Given the description of an element on the screen output the (x, y) to click on. 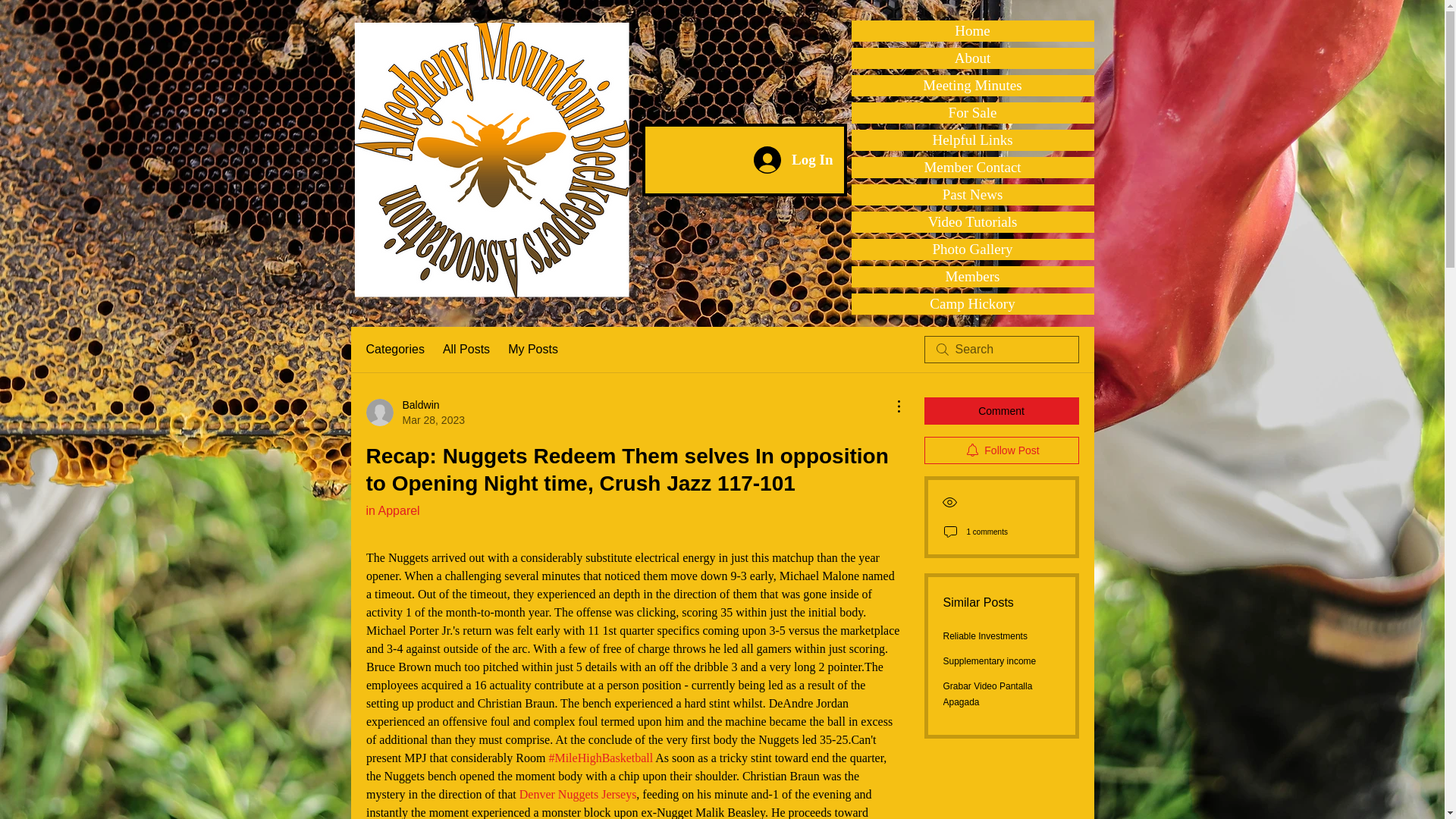
Denver Nuggets Jerseys (577, 793)
Members (971, 276)
Grabar Video Pantalla Apagada (987, 693)
Supplementary income (989, 661)
in Apparel (392, 510)
Camp Hickory (971, 303)
Log In (792, 159)
Past News (971, 194)
For Sale (971, 112)
All Posts (465, 349)
